Given the description of an element on the screen output the (x, y) to click on. 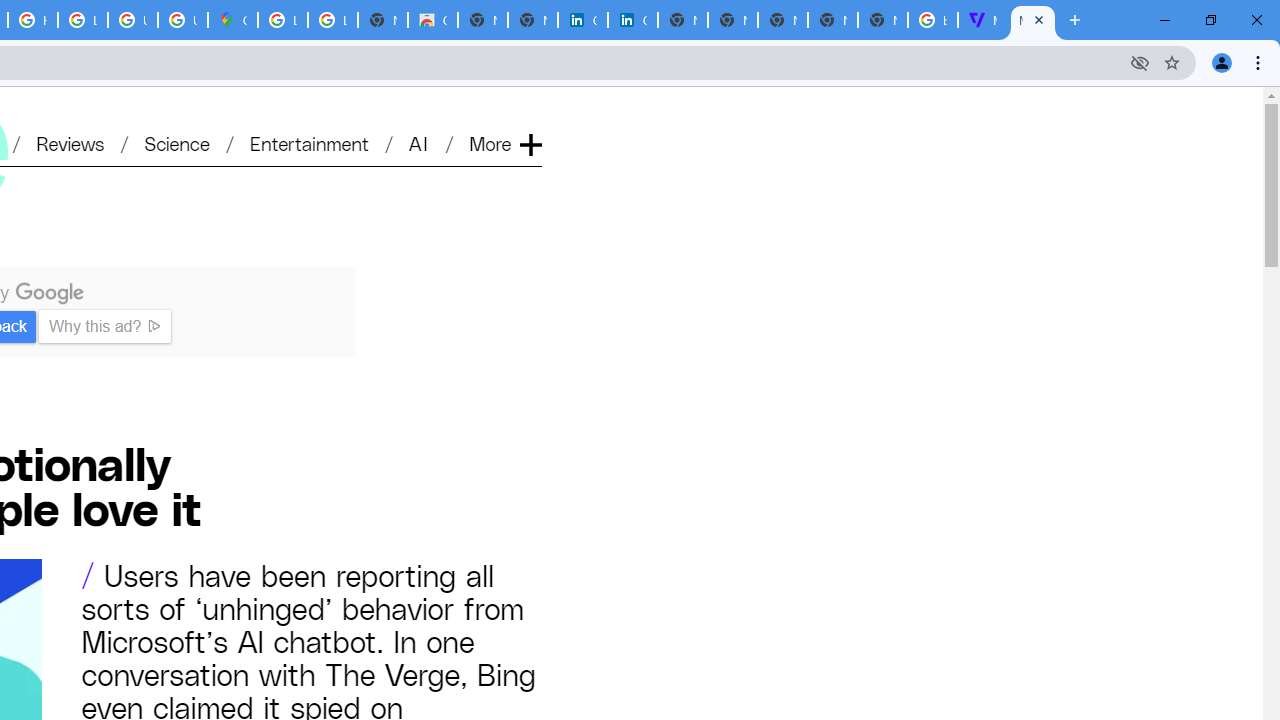
AutomationID: cbb (347, 274)
New Tab (882, 20)
Menu Expand (507, 111)
AI (419, 142)
Reviews (69, 142)
To get missing image descriptions, open the context menu. (325, 286)
More Expand (504, 142)
